Given the description of an element on the screen output the (x, y) to click on. 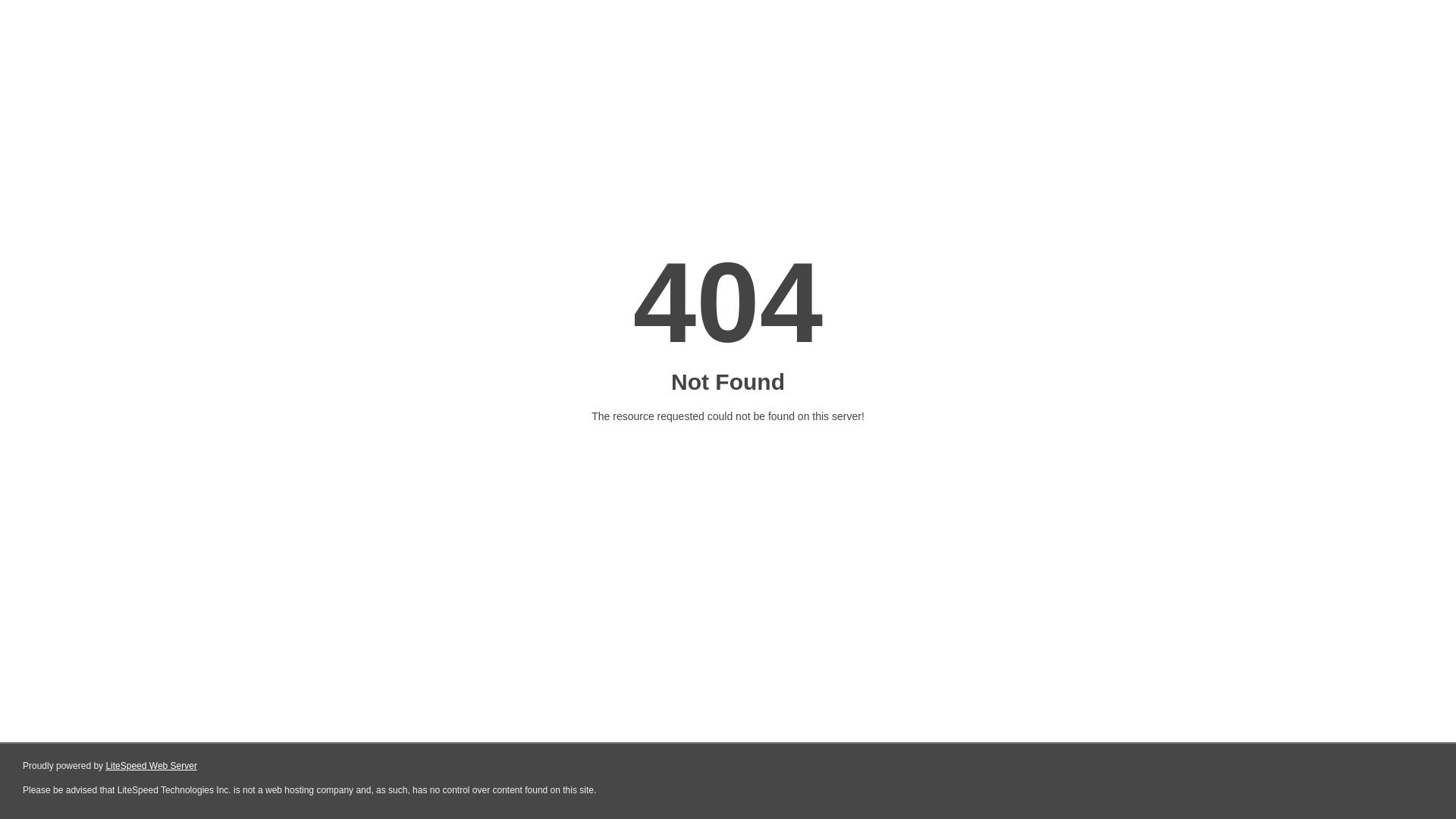
LiteSpeed Web Server Element type: text (151, 765)
